Given the description of an element on the screen output the (x, y) to click on. 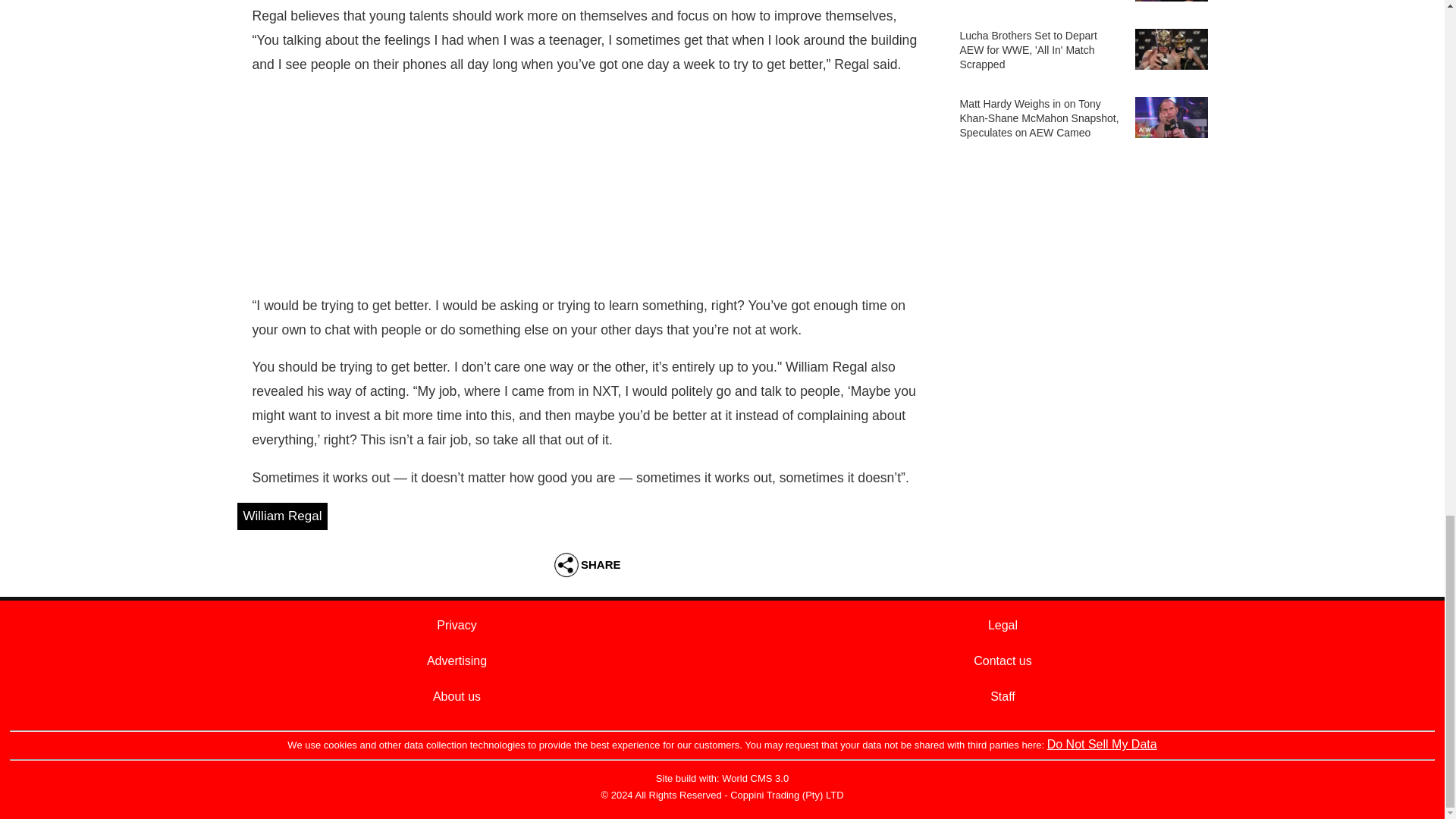
Privacy (456, 625)
Advertising (456, 660)
William Regal (281, 515)
Contact us (1002, 660)
Legal (1002, 625)
